Given the description of an element on the screen output the (x, y) to click on. 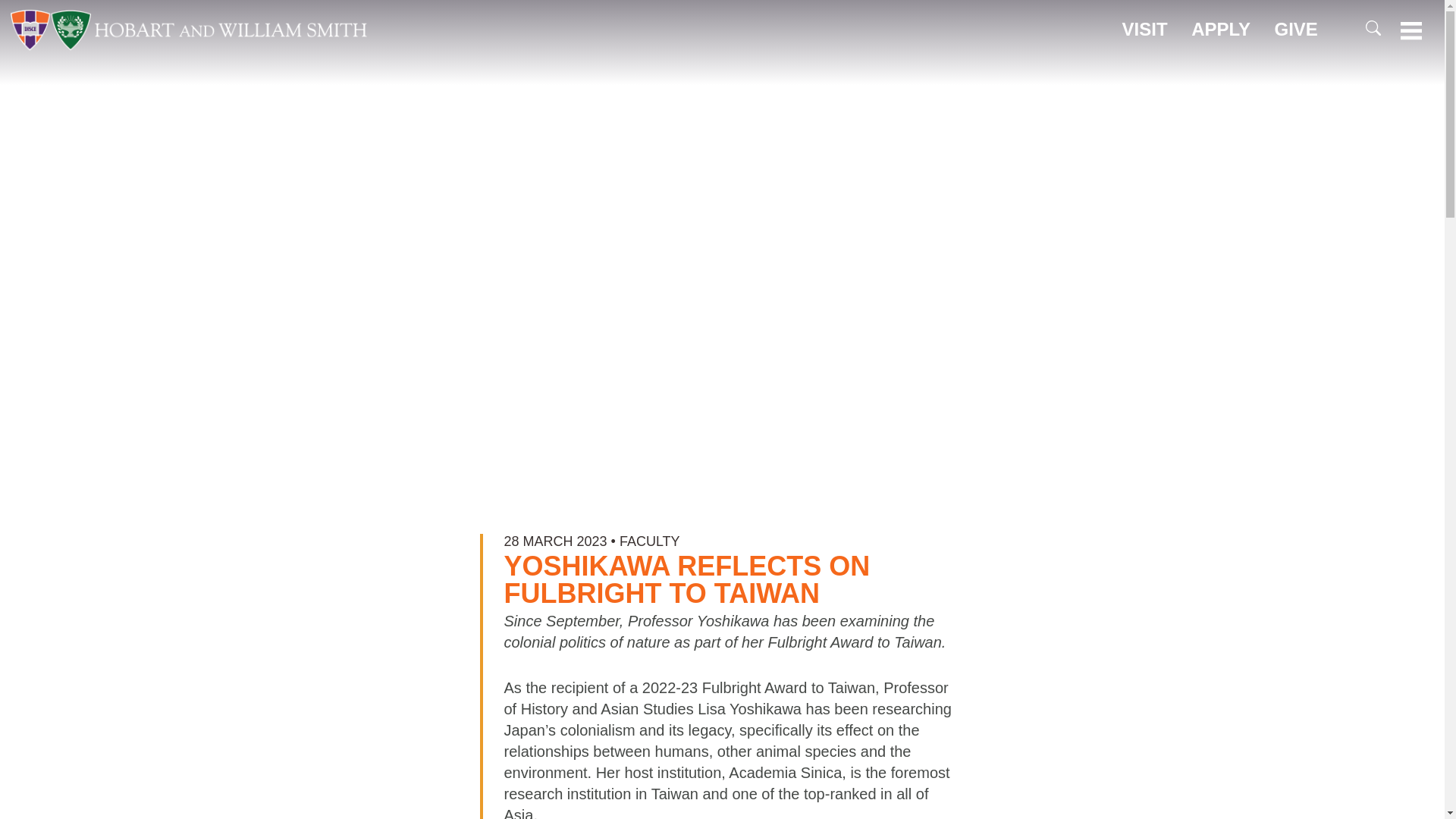
VISIT (1144, 29)
GIVE (1296, 29)
Submit (1367, 75)
APPLY (1220, 29)
